Given the description of an element on the screen output the (x, y) to click on. 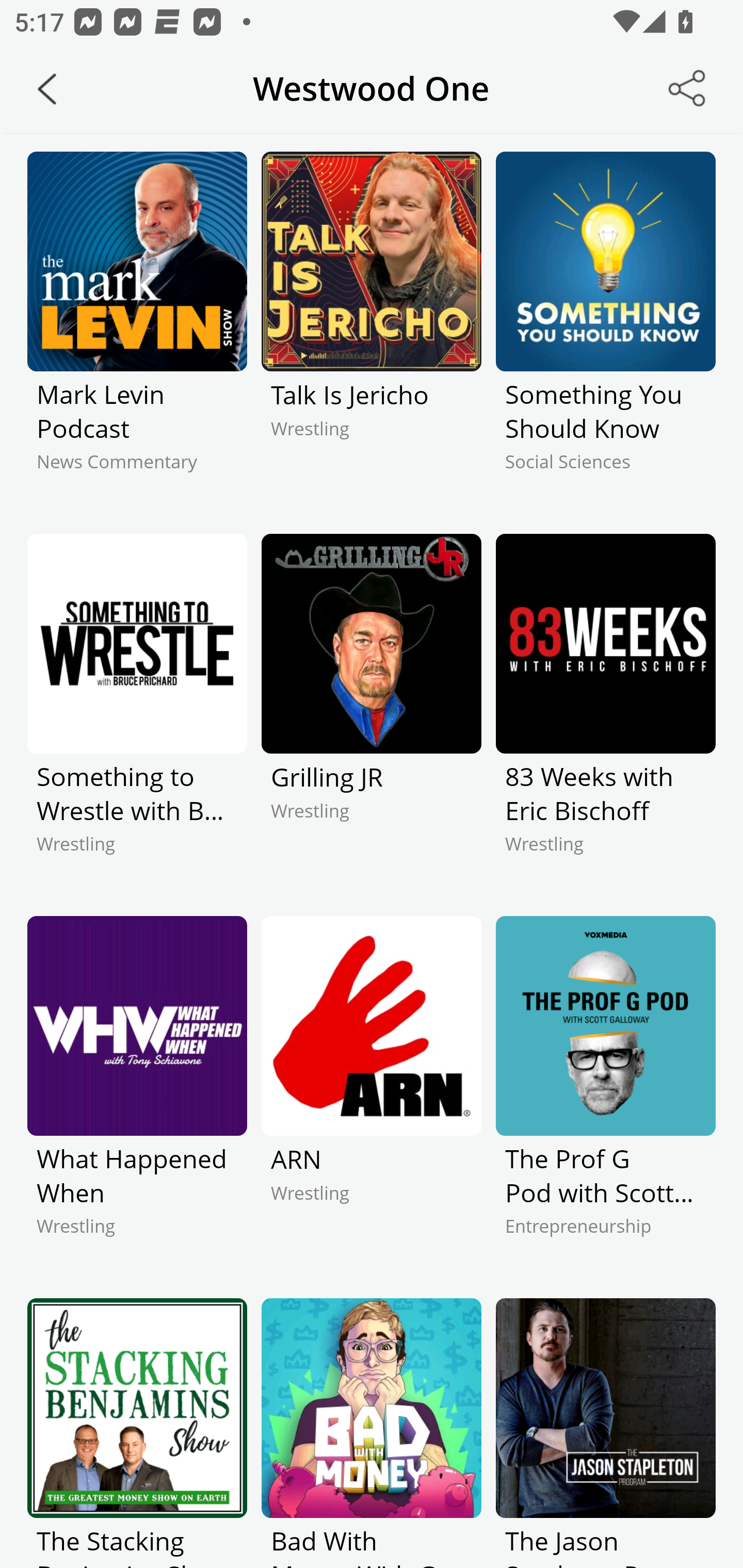
Back (46, 88)
Mark Levin Podcast News Commentary (137, 329)
Talk Is Jericho Wrestling (371, 329)
Something You Should Know Social Sciences (605, 329)
Something to Wrestle with Bruce Prichard Wrestling (137, 711)
Grilling JR Wrestling (371, 711)
83 Weeks with Eric Bischoff Wrestling (605, 711)
What Happened When Wrestling (137, 1093)
ARN Wrestling (371, 1093)
The Stacking Benjamins Show (137, 1433)
Bad With Money With Gabe Dunn (371, 1433)
The Jason Stapleton Program (605, 1433)
